Given the description of an element on the screen output the (x, y) to click on. 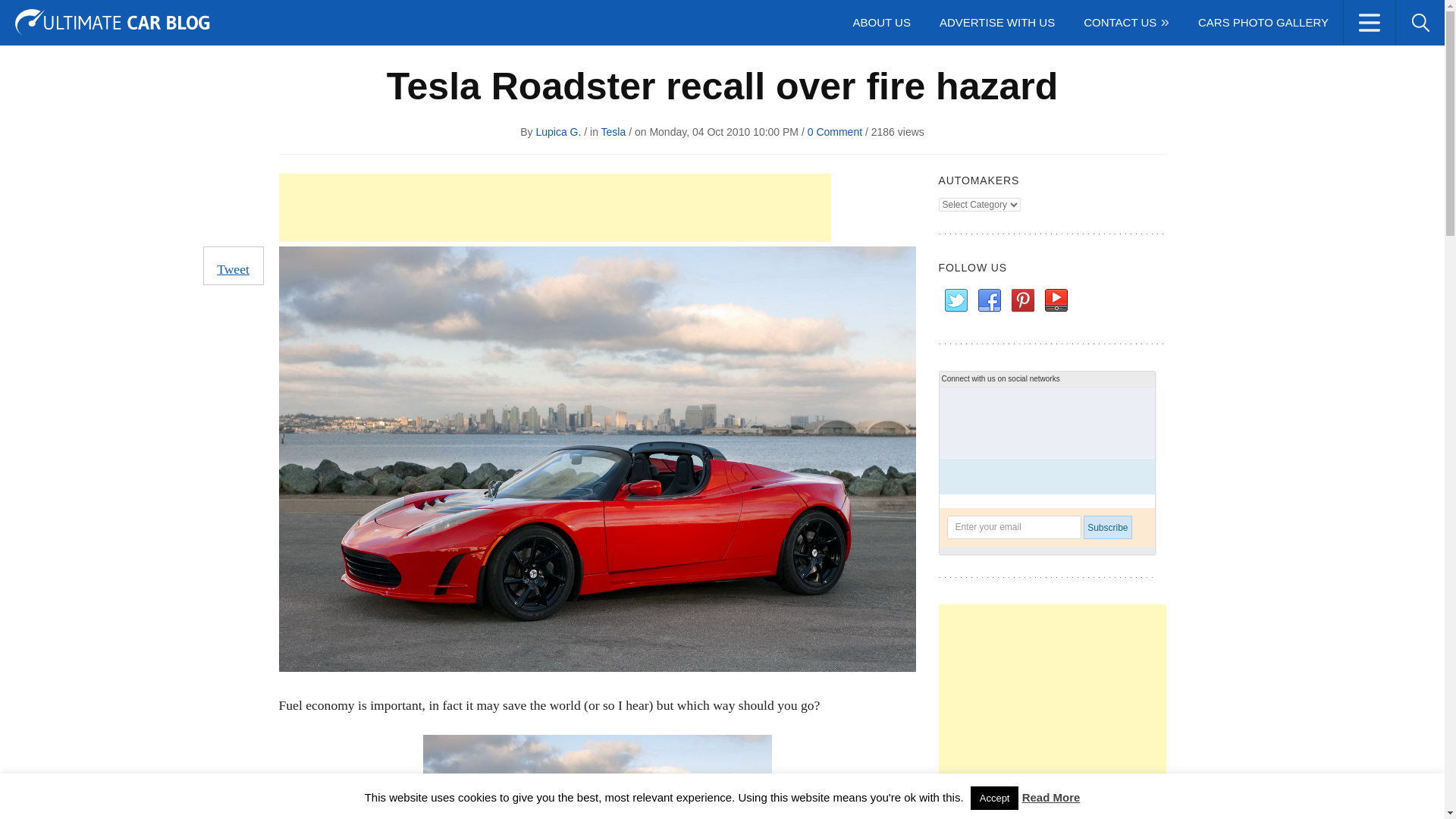
Advertisement (1052, 711)
Concepts (197, 16)
Twitter (1306, 16)
gplus (1418, 16)
ABOUT US (881, 22)
Lupica G. (557, 132)
CARS PHOTO GALLERY (1262, 22)
Electric (266, 16)
ADVERTISE WITH US (996, 22)
Facebook (988, 300)
Tesla (613, 132)
Subscribe (1107, 526)
Enter your email (1013, 526)
YouTube (1055, 300)
Pinterest (1021, 300)
